Given the description of an element on the screen output the (x, y) to click on. 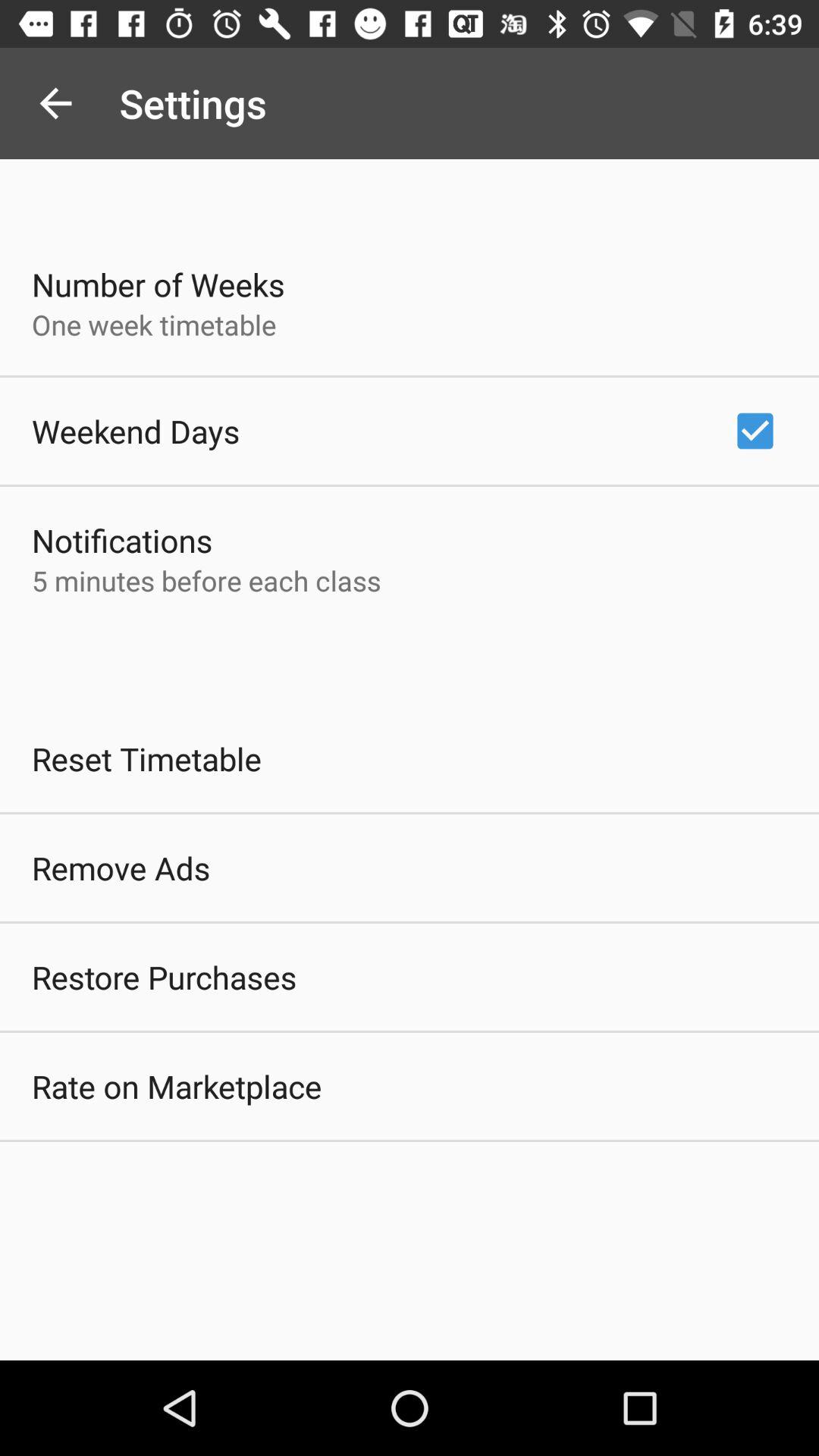
choose one week timetable (153, 324)
